Given the description of an element on the screen output the (x, y) to click on. 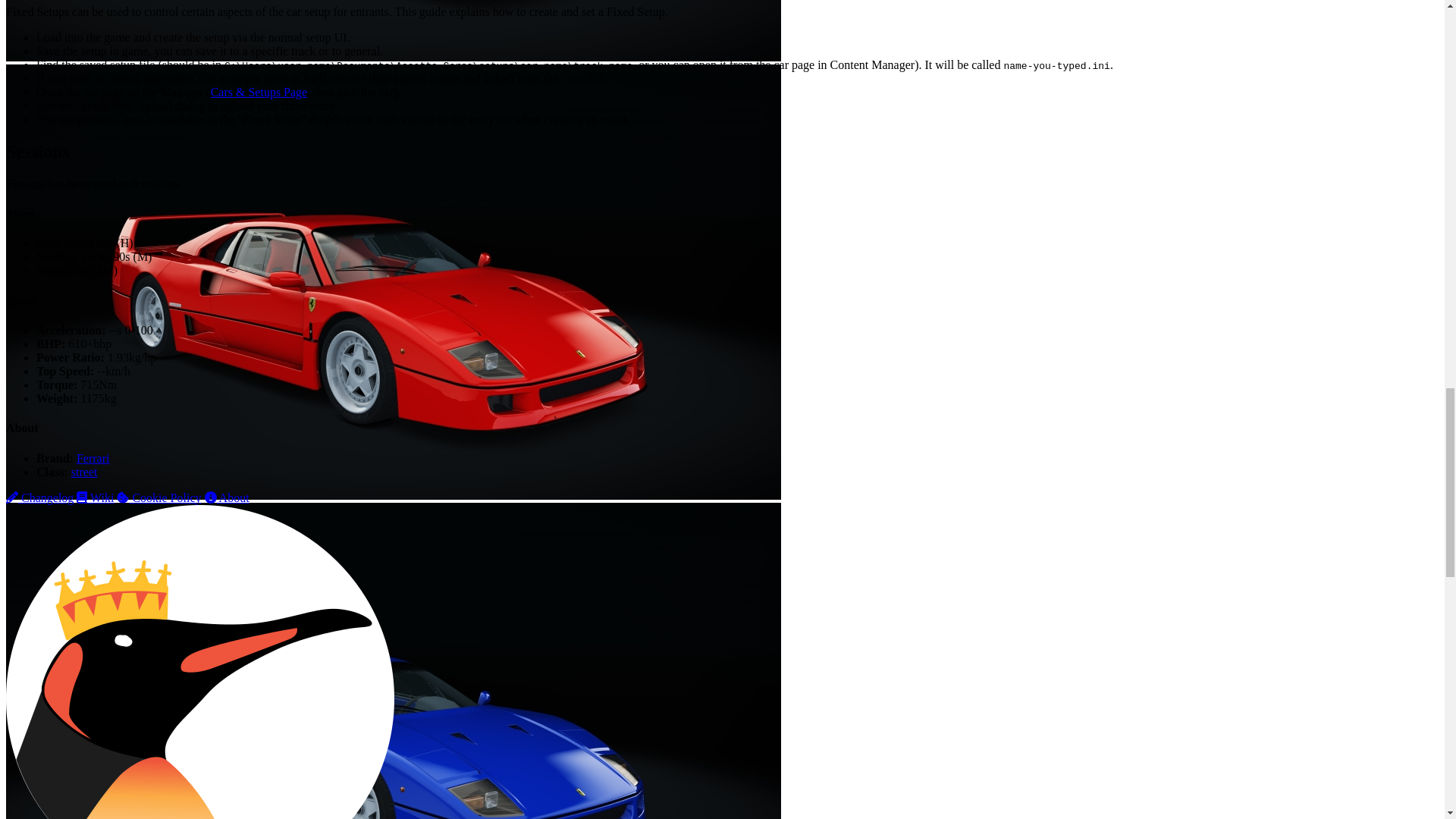
street (84, 472)
Cookie Policy (158, 497)
About (226, 497)
Ferrari (93, 458)
Wiki (95, 497)
Changelog (39, 497)
